Given the description of an element on the screen output the (x, y) to click on. 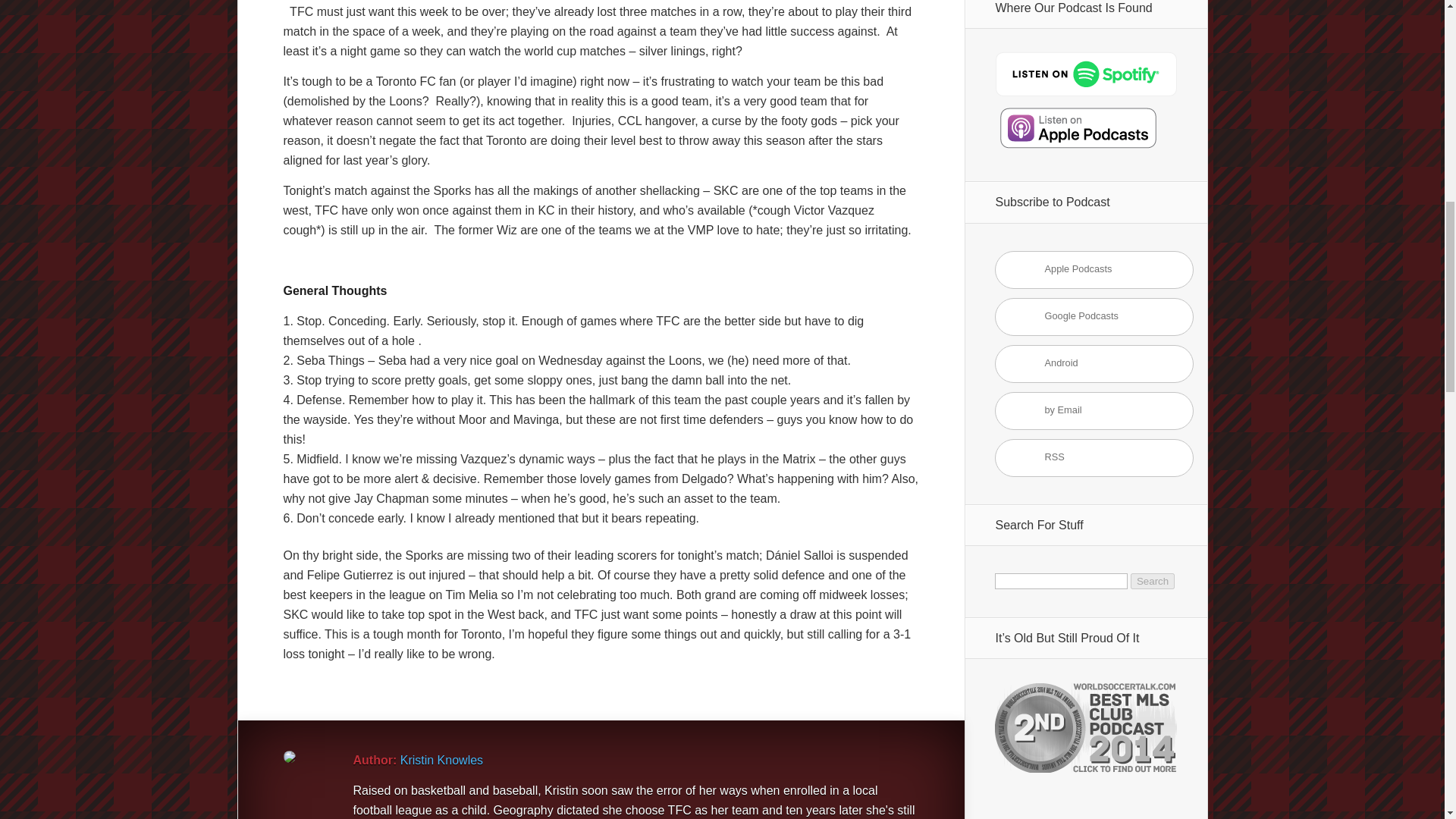
Google Podcasts (1093, 316)
Apple Podcasts (1093, 269)
Search (1152, 580)
RSS (1093, 457)
Subscribe on Apple Podcasts (1093, 269)
Android (1093, 363)
Subscribe on Google Podcasts (1093, 316)
Search (1152, 580)
Subscribe by Email (1093, 410)
Kristin Knowles (441, 759)
by Email (1093, 410)
Subscribe on Android (1093, 363)
Subscribe via RSS (1093, 457)
